Given the description of an element on the screen output the (x, y) to click on. 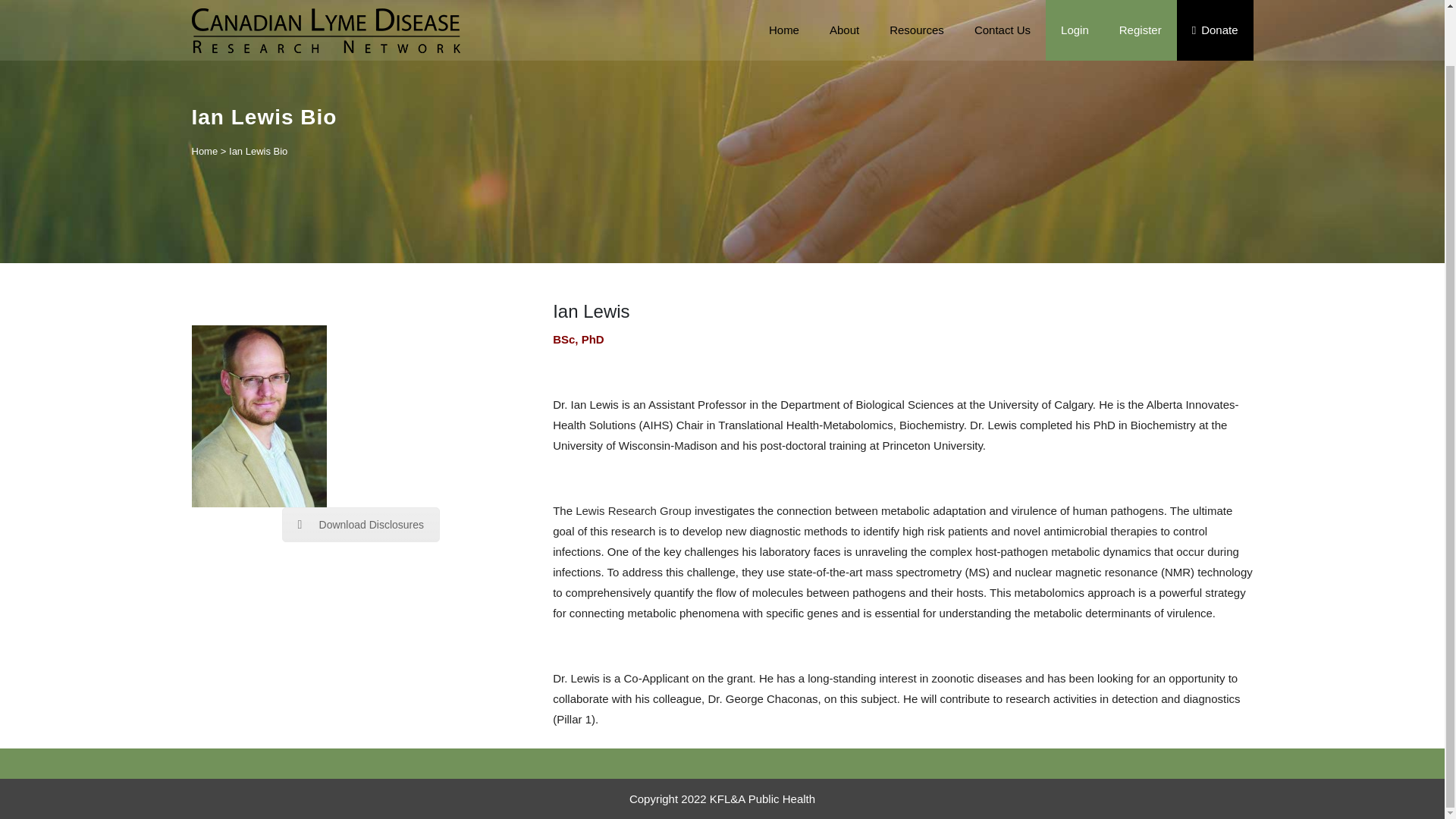
Home (203, 151)
Download Disclosures (361, 524)
Lewis Research Group (633, 510)
